Given the description of an element on the screen output the (x, y) to click on. 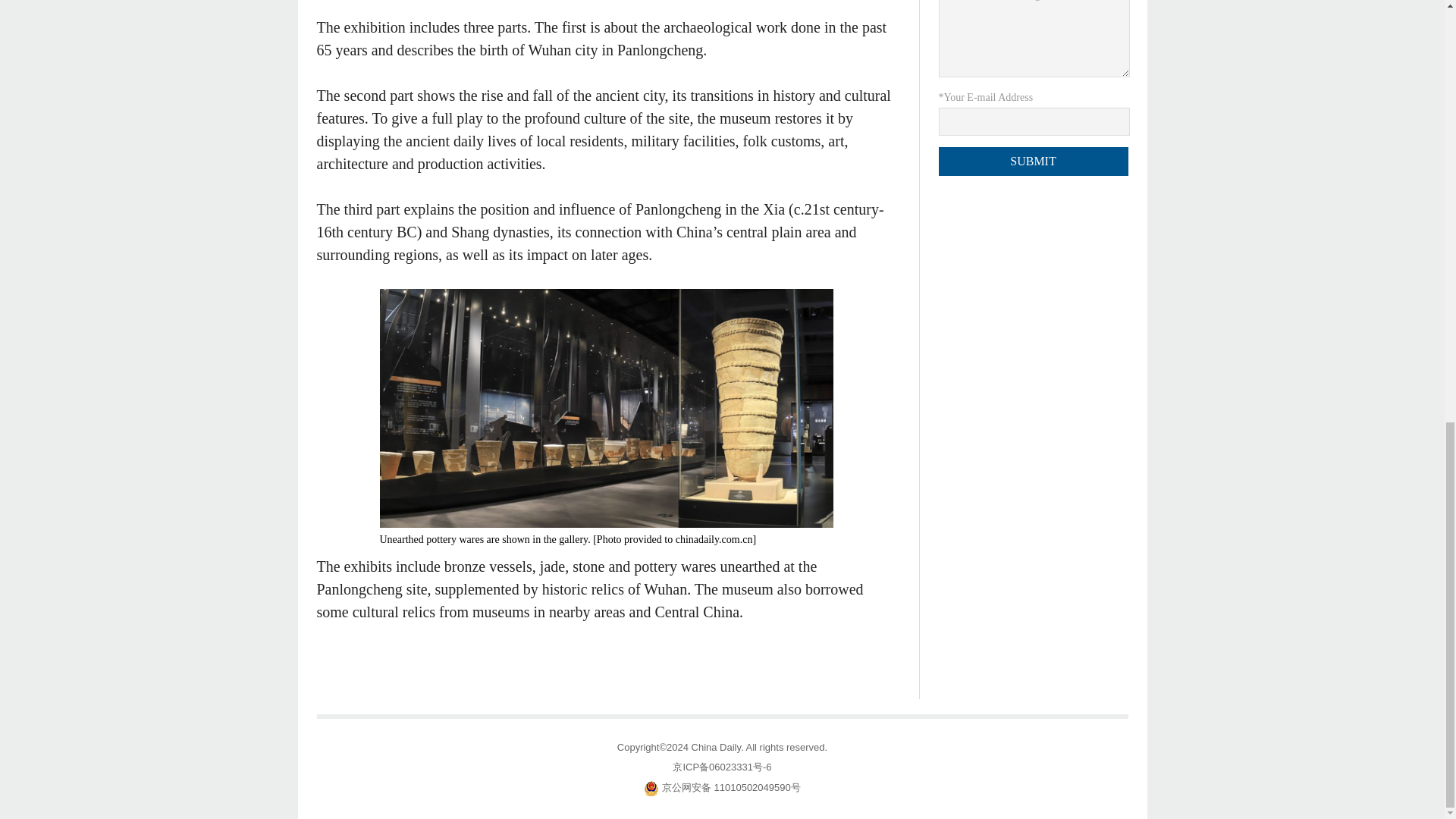
Submit (1033, 161)
Submit (1033, 161)
